Given the description of an element on the screen output the (x, y) to click on. 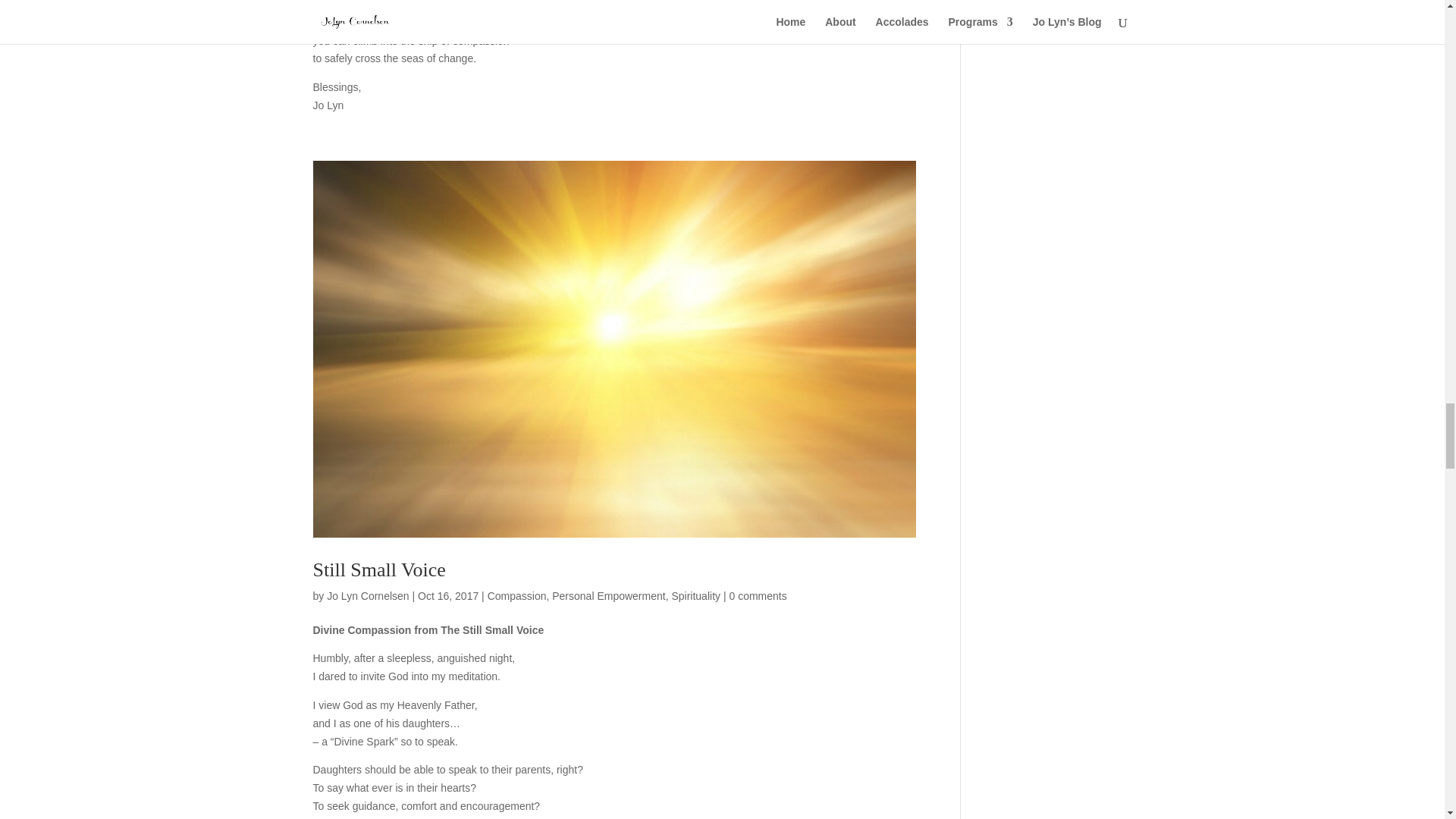
Personal Empowerment (608, 595)
Spirituality (695, 595)
Compassion (517, 595)
Still Small Voice (379, 569)
Posts by Jo Lyn Cornelsen (367, 595)
Jo Lyn Cornelsen (367, 595)
